Given the description of an element on the screen output the (x, y) to click on. 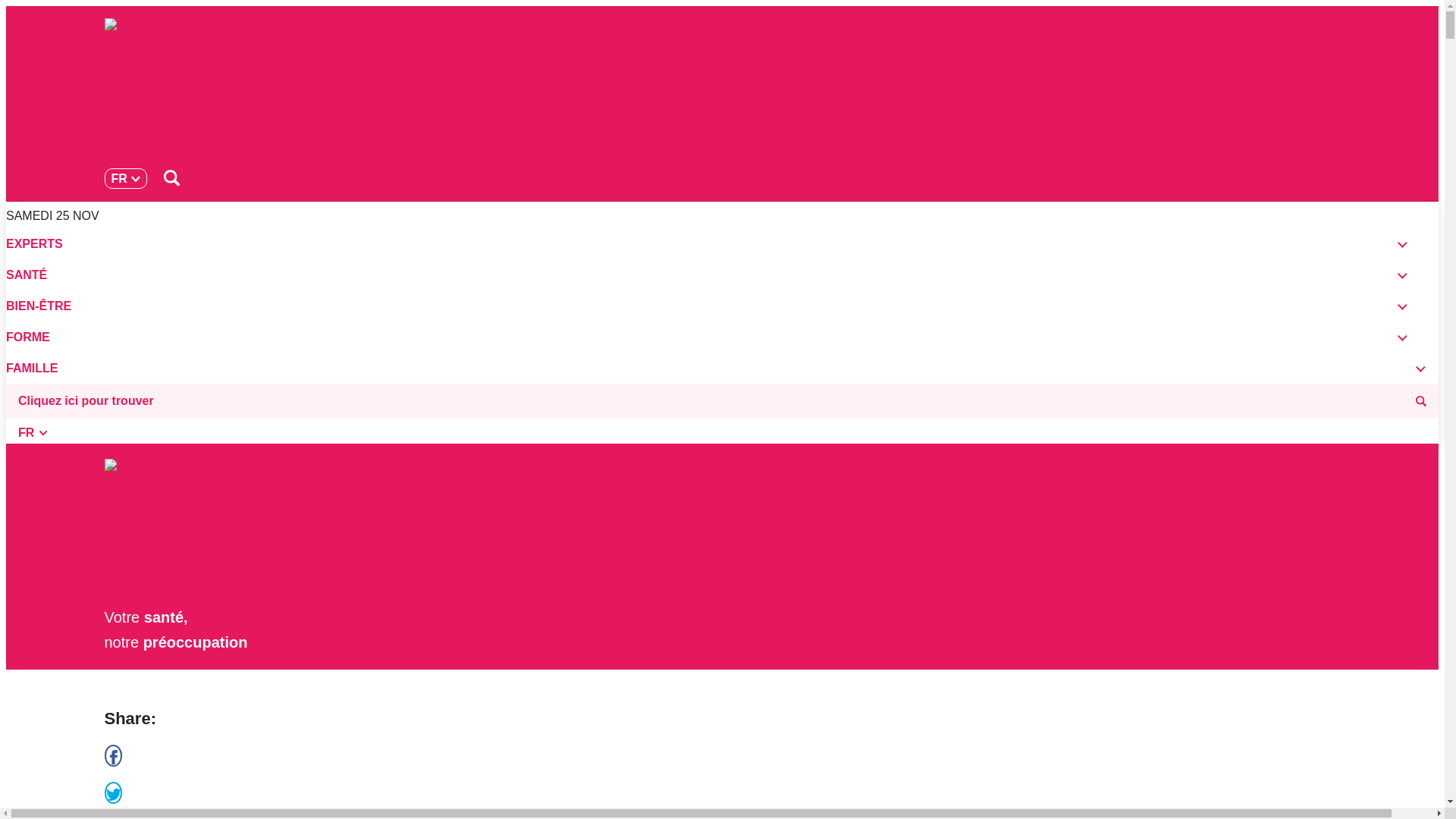
EXPERTS Element type: text (701, 243)
FORME Element type: text (701, 336)
123Vitalite.com Element type: hover (692, 531)
FAMILLE Element type: text (710, 367)
123Vitalite.com Element type: hover (710, 90)
search Element type: hover (171, 176)
